Given the description of an element on the screen output the (x, y) to click on. 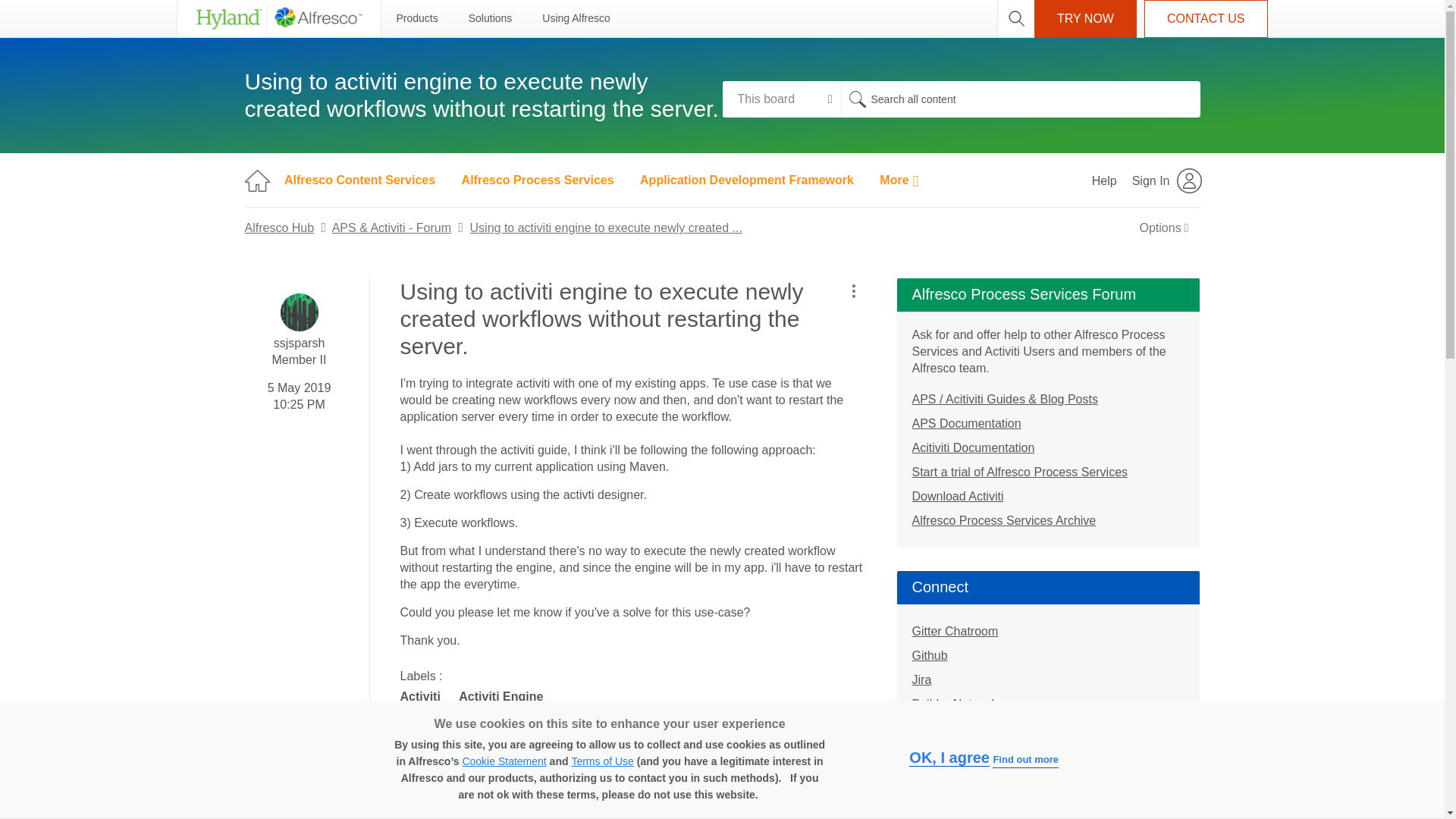
Search (856, 98)
Show option menu (853, 290)
Search (1019, 98)
Alfresco Process Services (537, 180)
More (898, 180)
Posted on (298, 392)
Show option menu (1163, 227)
CONTACT US (1206, 18)
TRY NOW (1085, 18)
The total number of kudos this post has received. (452, 738)
